Given the description of an element on the screen output the (x, y) to click on. 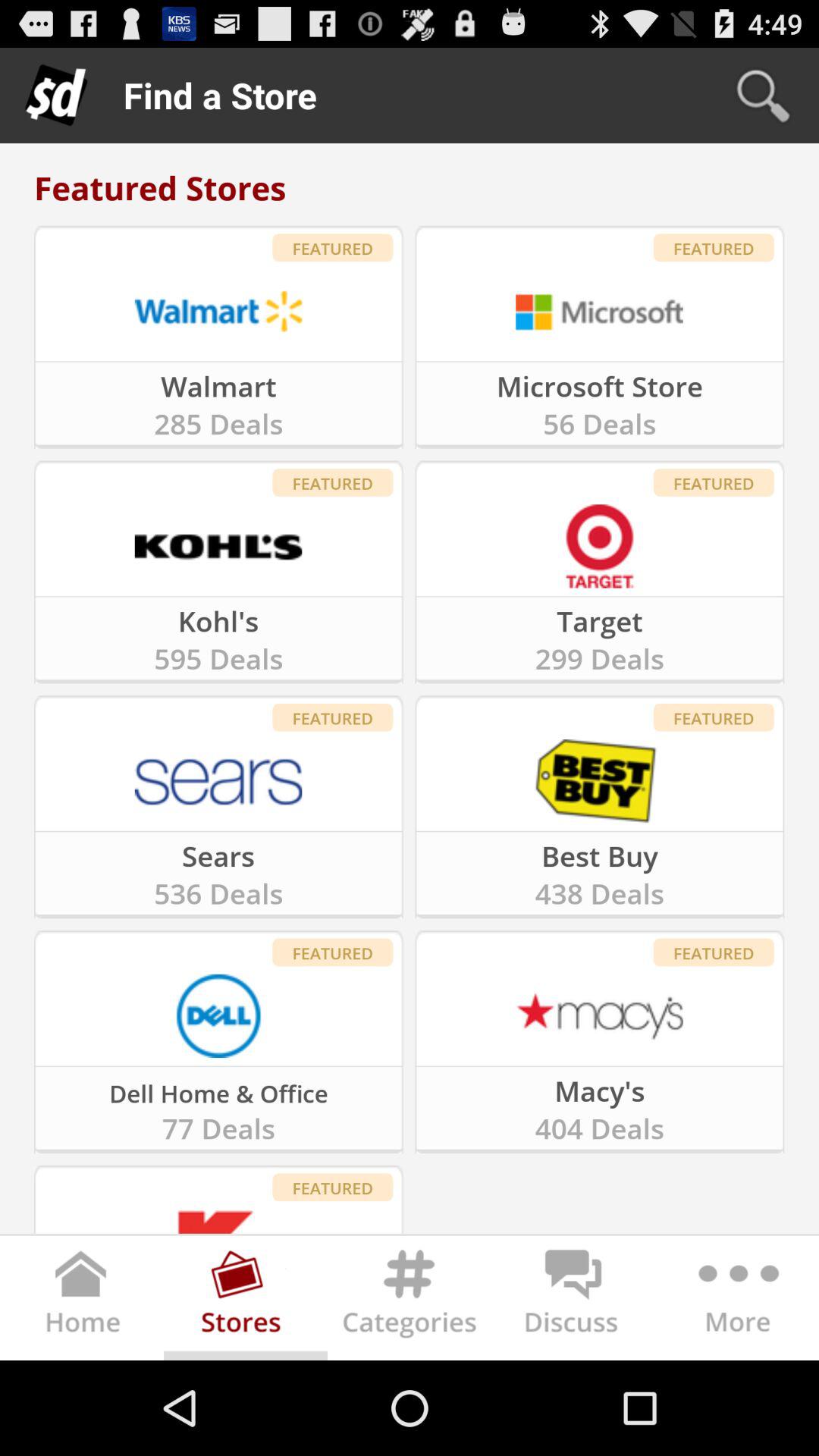
home (81, 1301)
